Given the description of an element on the screen output the (x, y) to click on. 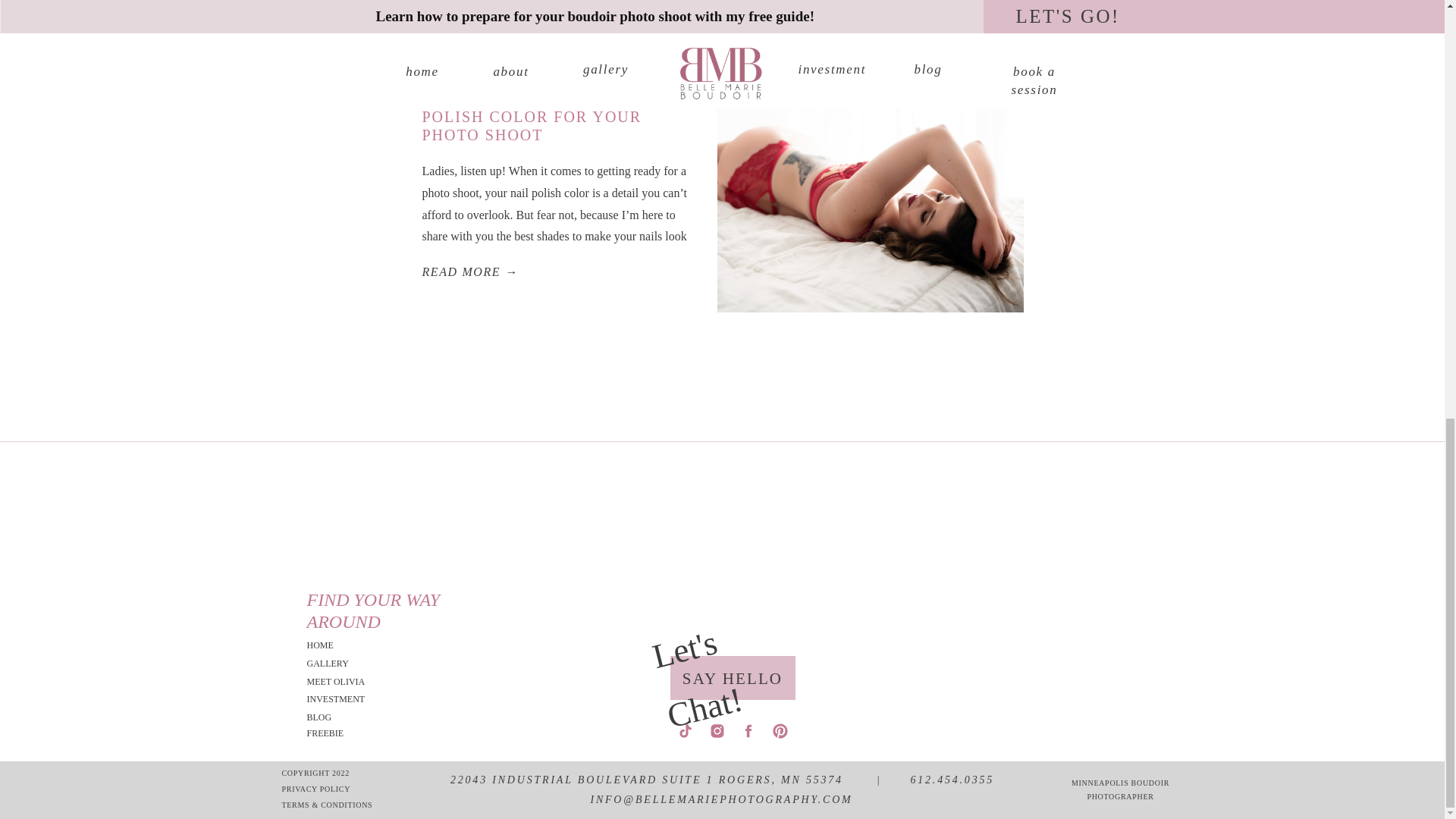
MEET OLIVIA (348, 682)
SESSION TIPS (448, 58)
INVESTMENT (348, 699)
HOME (348, 645)
PRIVACY POLICY (325, 790)
BLOG (348, 717)
